Given the description of an element on the screen output the (x, y) to click on. 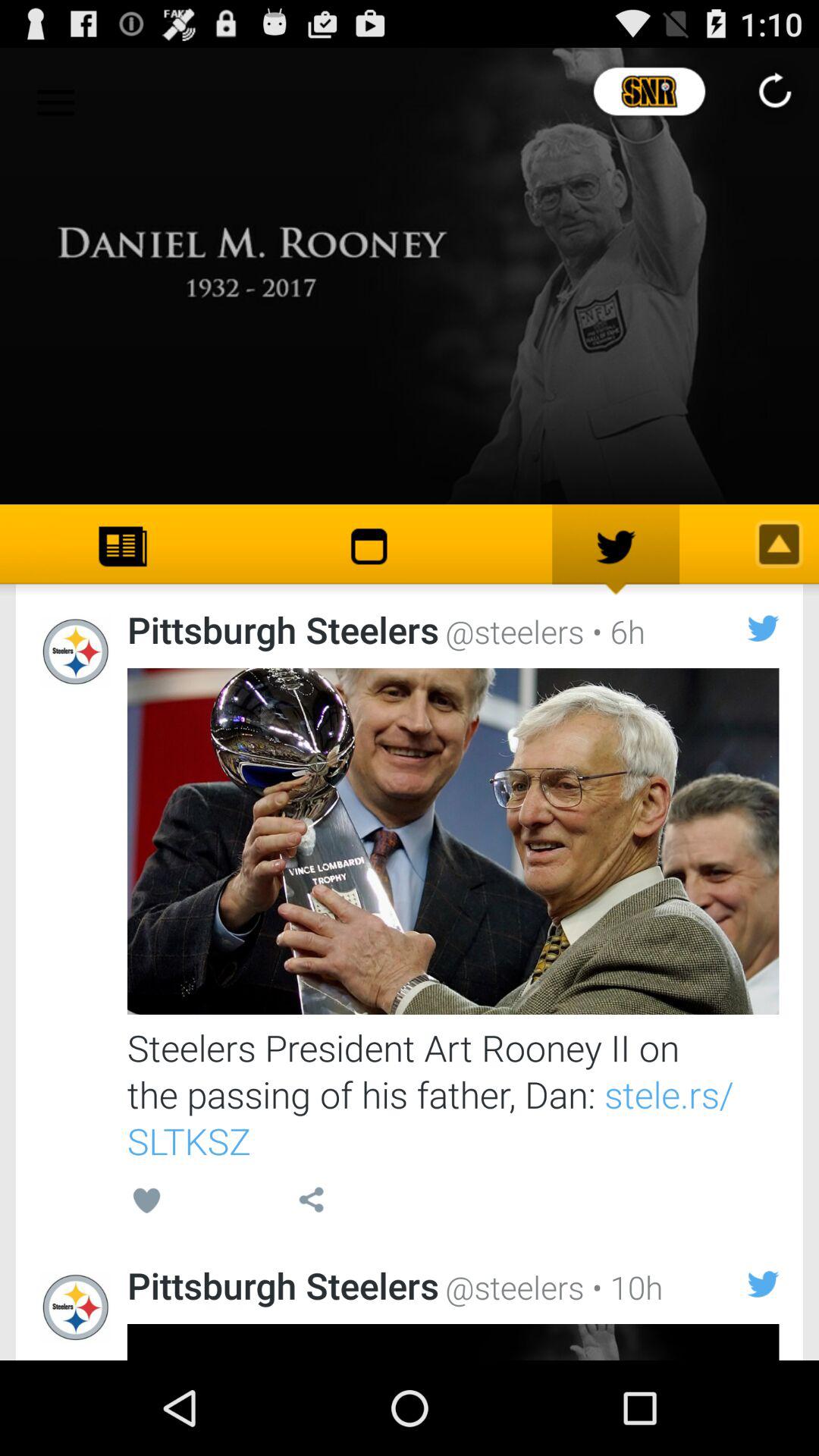
show article (453, 841)
